Given the description of an element on the screen output the (x, y) to click on. 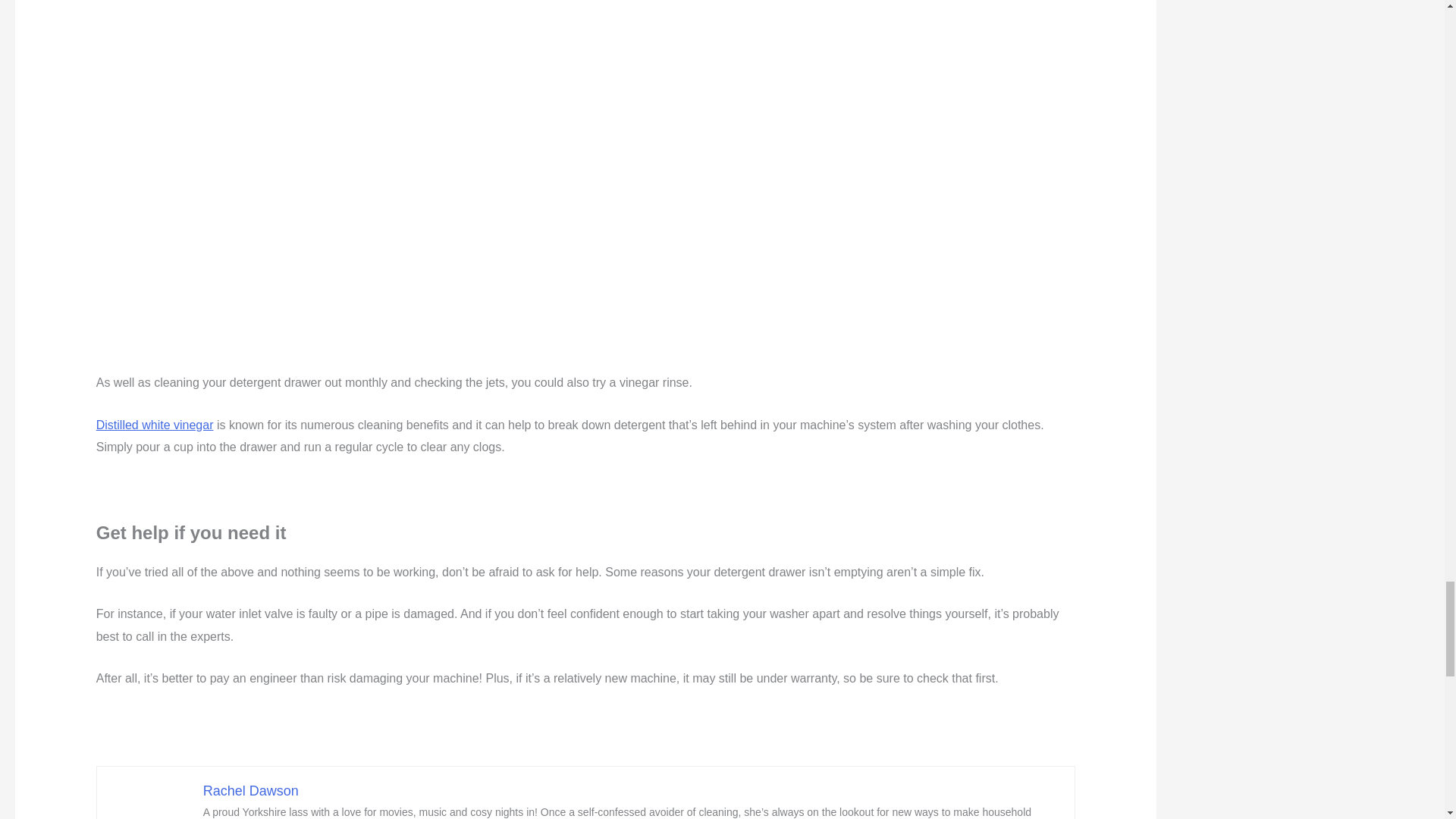
Rachel Dawson (250, 790)
Distilled white vinegar (155, 424)
